Given the description of an element on the screen output the (x, y) to click on. 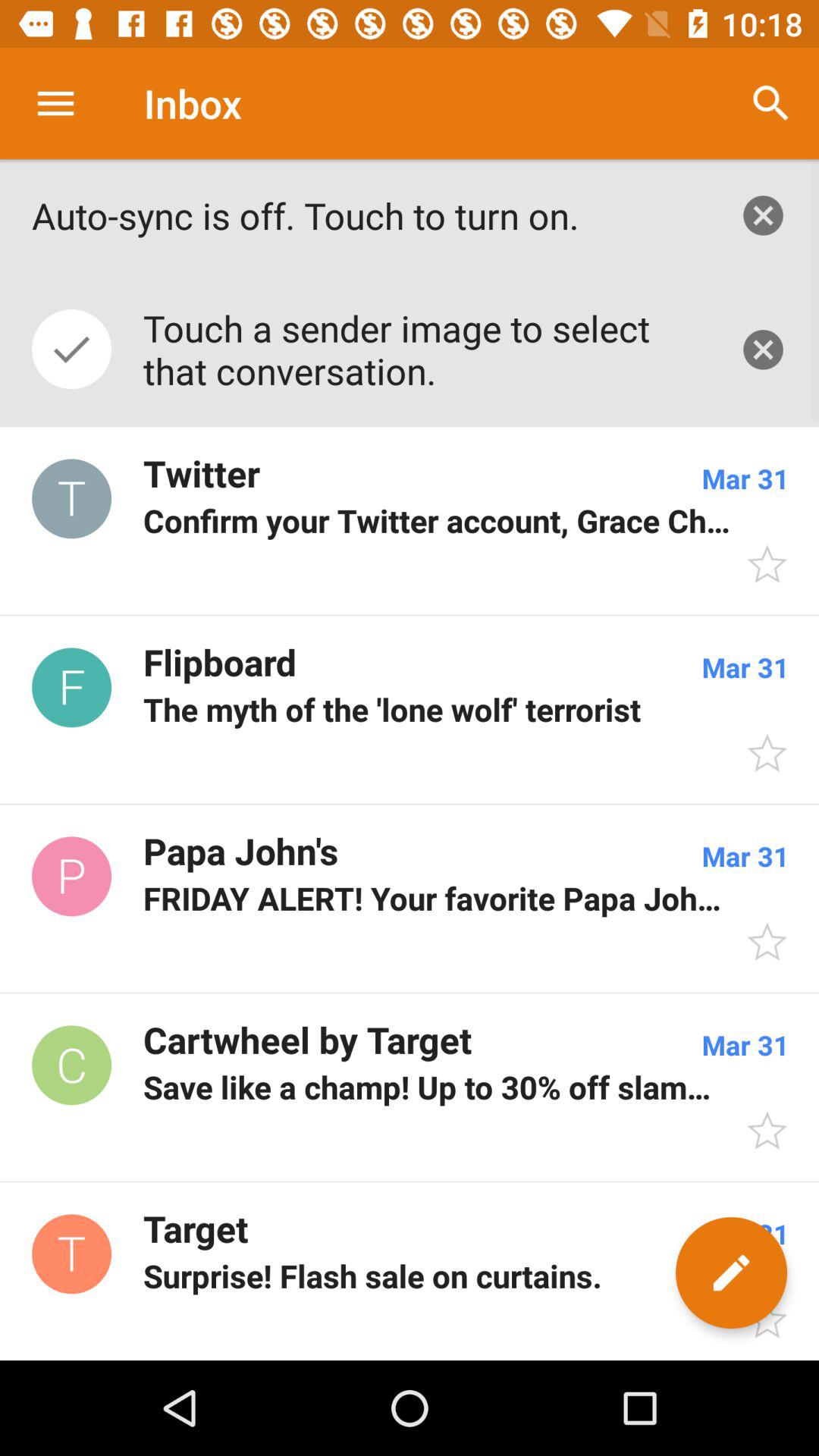
select item next to the auto sync is item (763, 215)
